Given the description of an element on the screen output the (x, y) to click on. 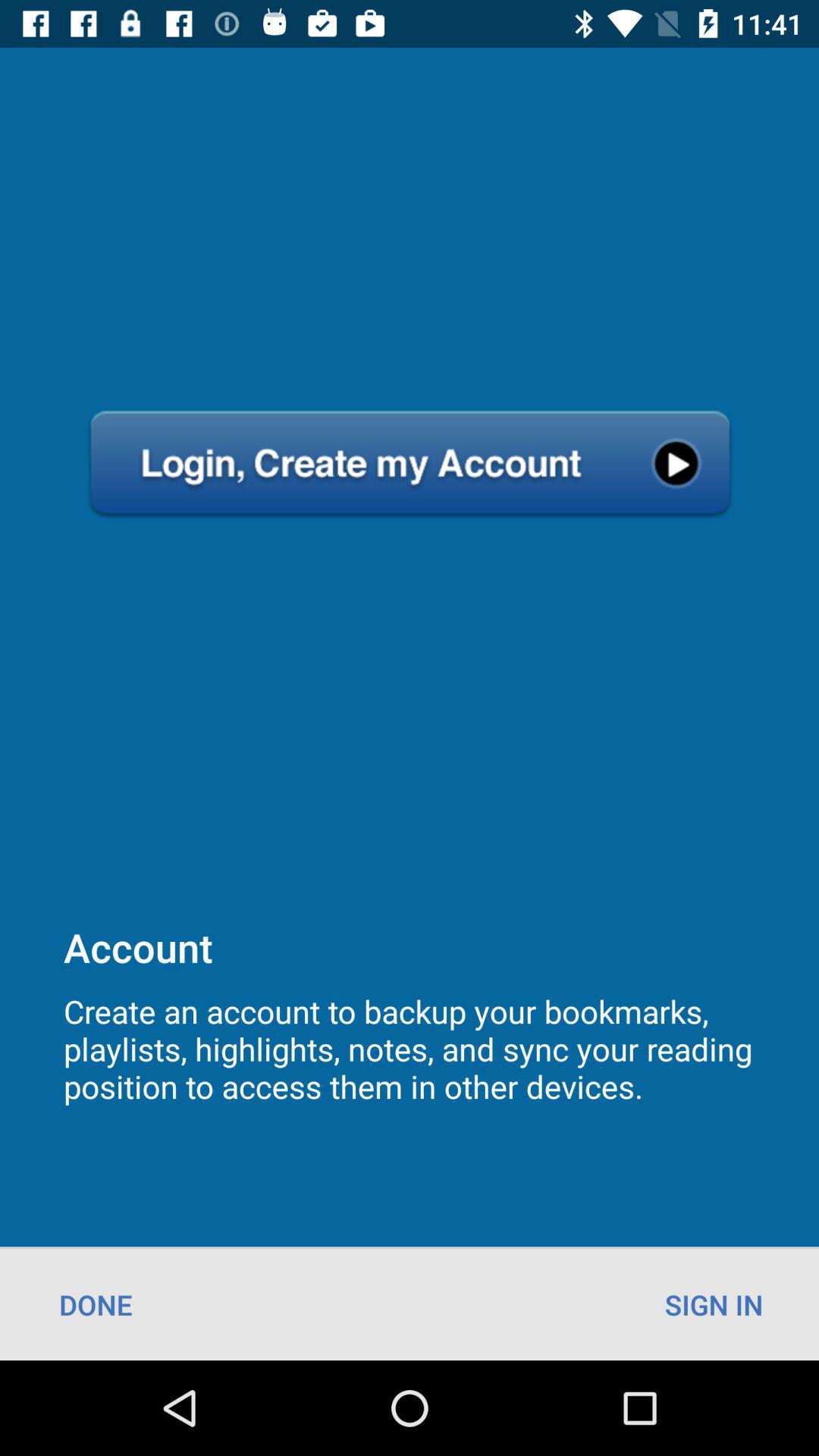
launch done item (95, 1304)
